Given the description of an element on the screen output the (x, y) to click on. 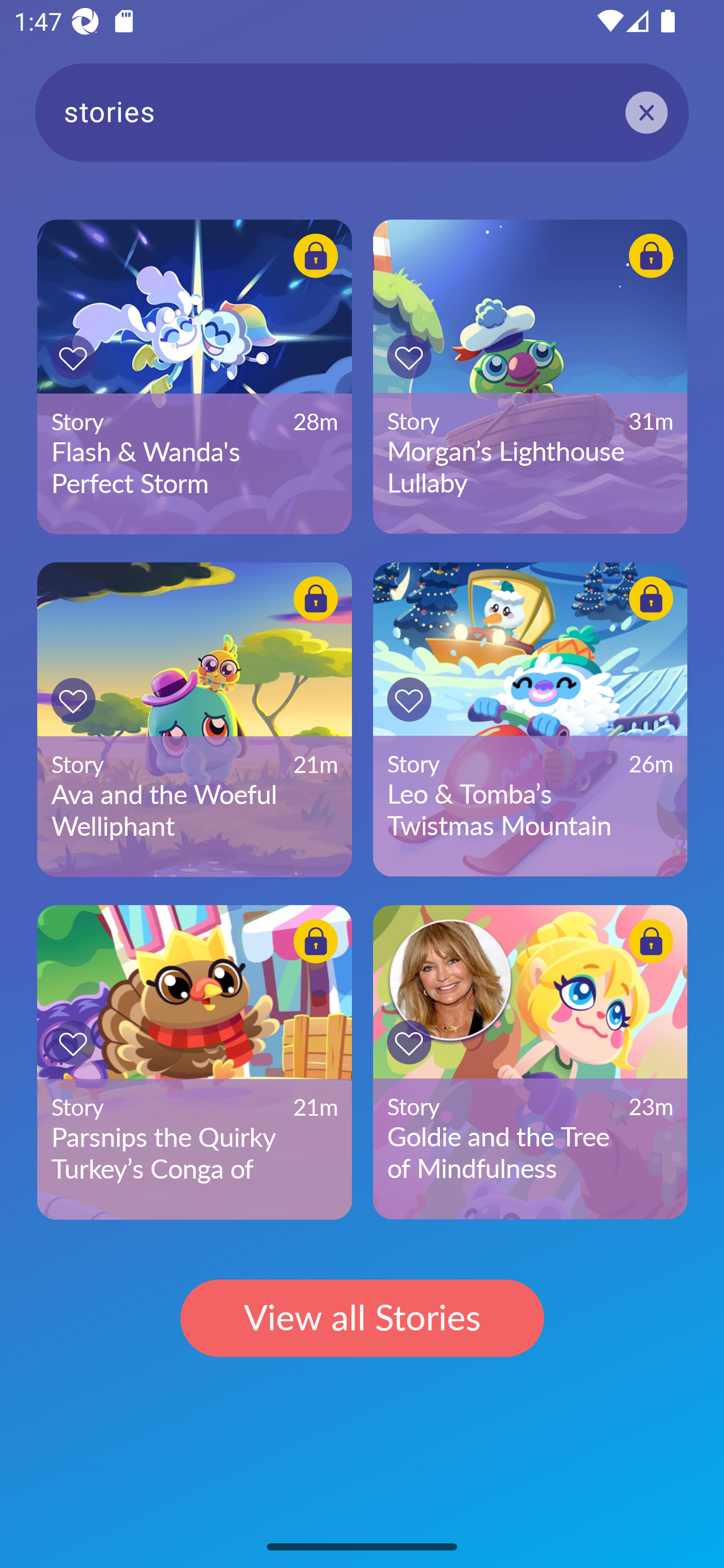
stories (361, 111)
Button (315, 255)
Button (650, 255)
Button (409, 356)
Button (73, 357)
Button (315, 598)
Button (650, 598)
Button (409, 698)
Button (73, 699)
Button (315, 940)
Button (650, 940)
Button (409, 1042)
Button (73, 1042)
View all Stories (361, 1318)
